Given the description of an element on the screen output the (x, y) to click on. 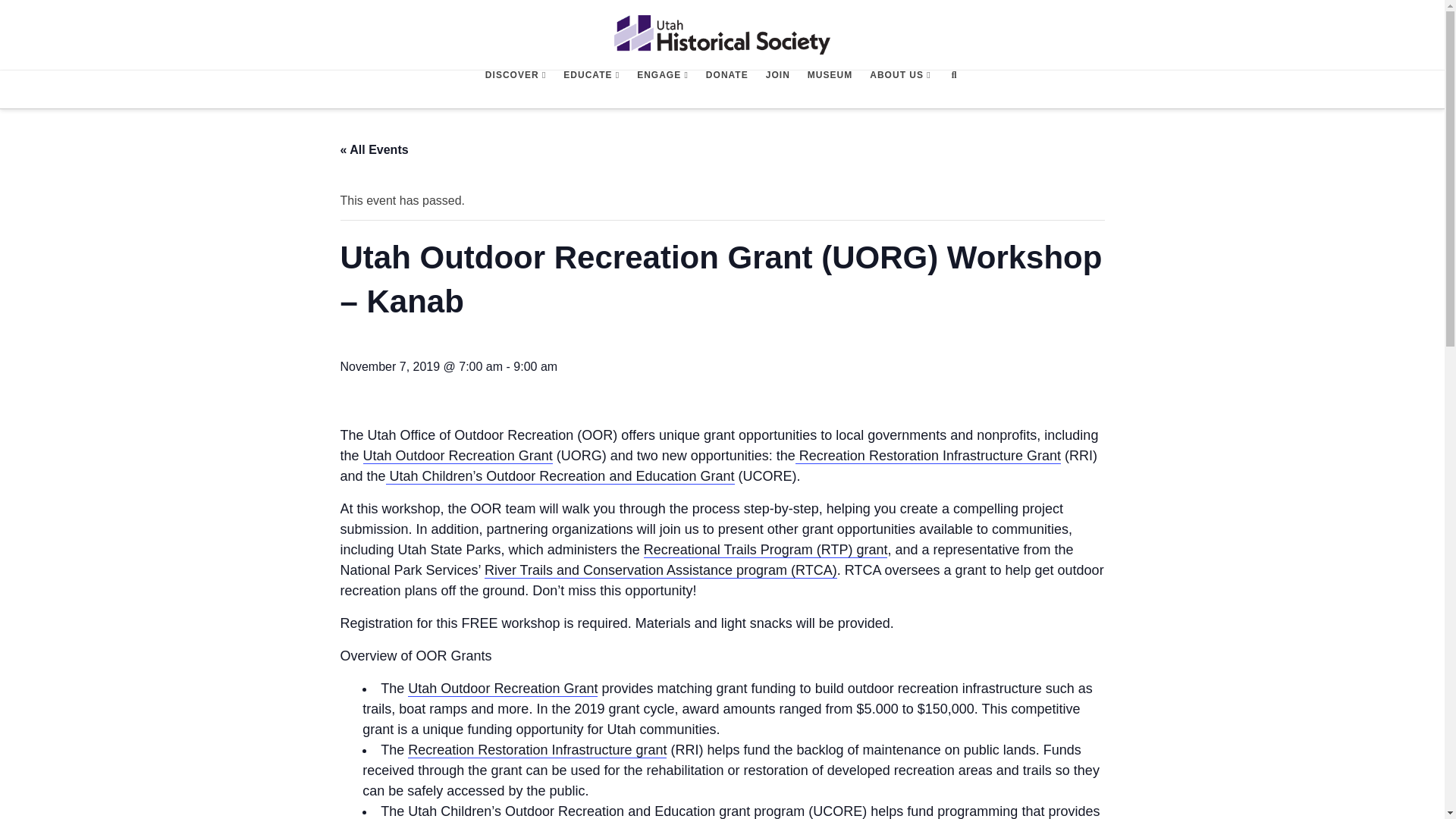
ABOUT US (899, 89)
JOIN (777, 89)
MUSEUM (828, 89)
EDUCATE (590, 89)
ENGAGE (662, 89)
DISCOVER (515, 89)
DONATE (727, 89)
